Given the description of an element on the screen output the (x, y) to click on. 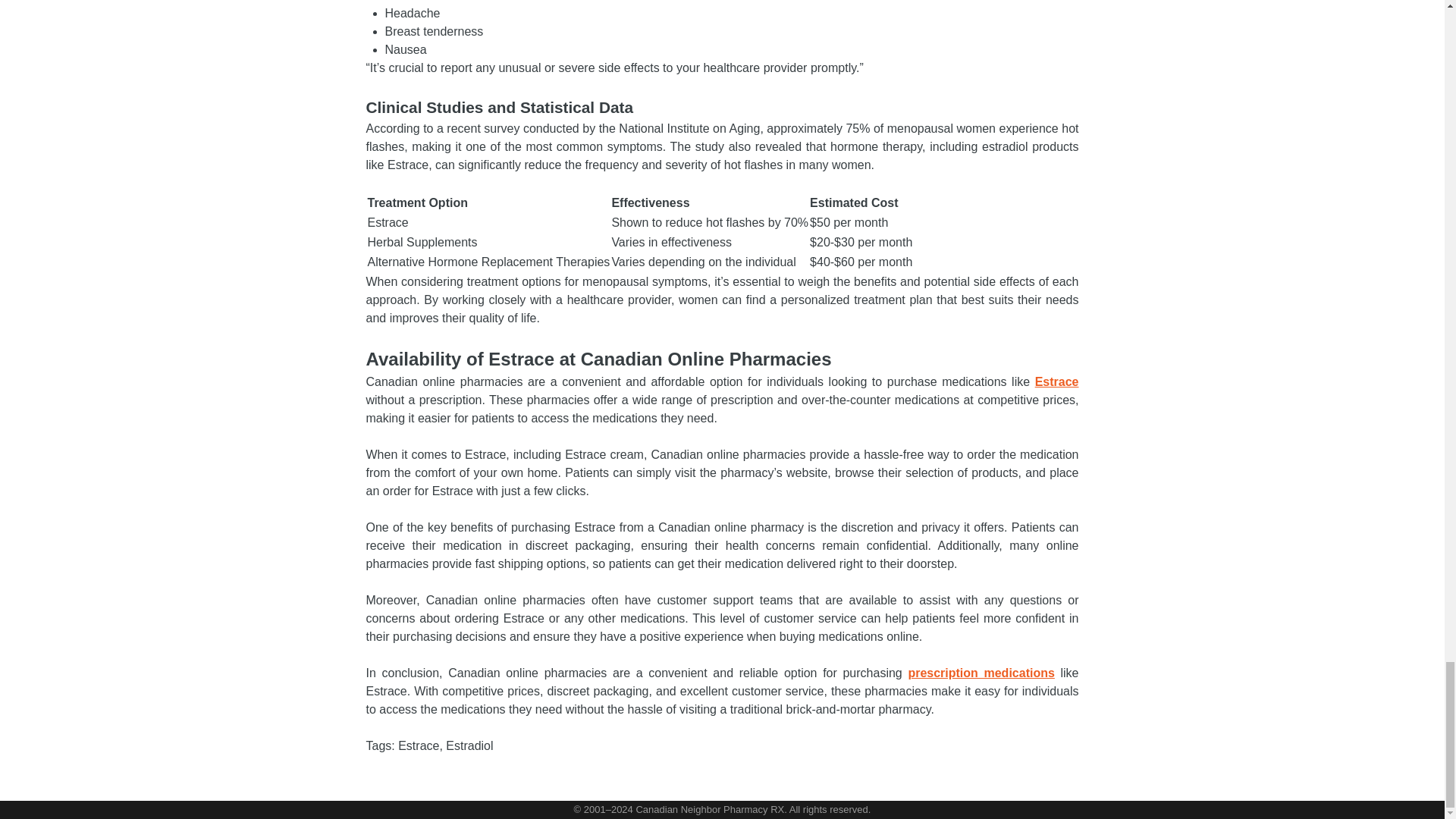
Estrace (1056, 381)
prescription medications (980, 672)
